Given the description of an element on the screen output the (x, y) to click on. 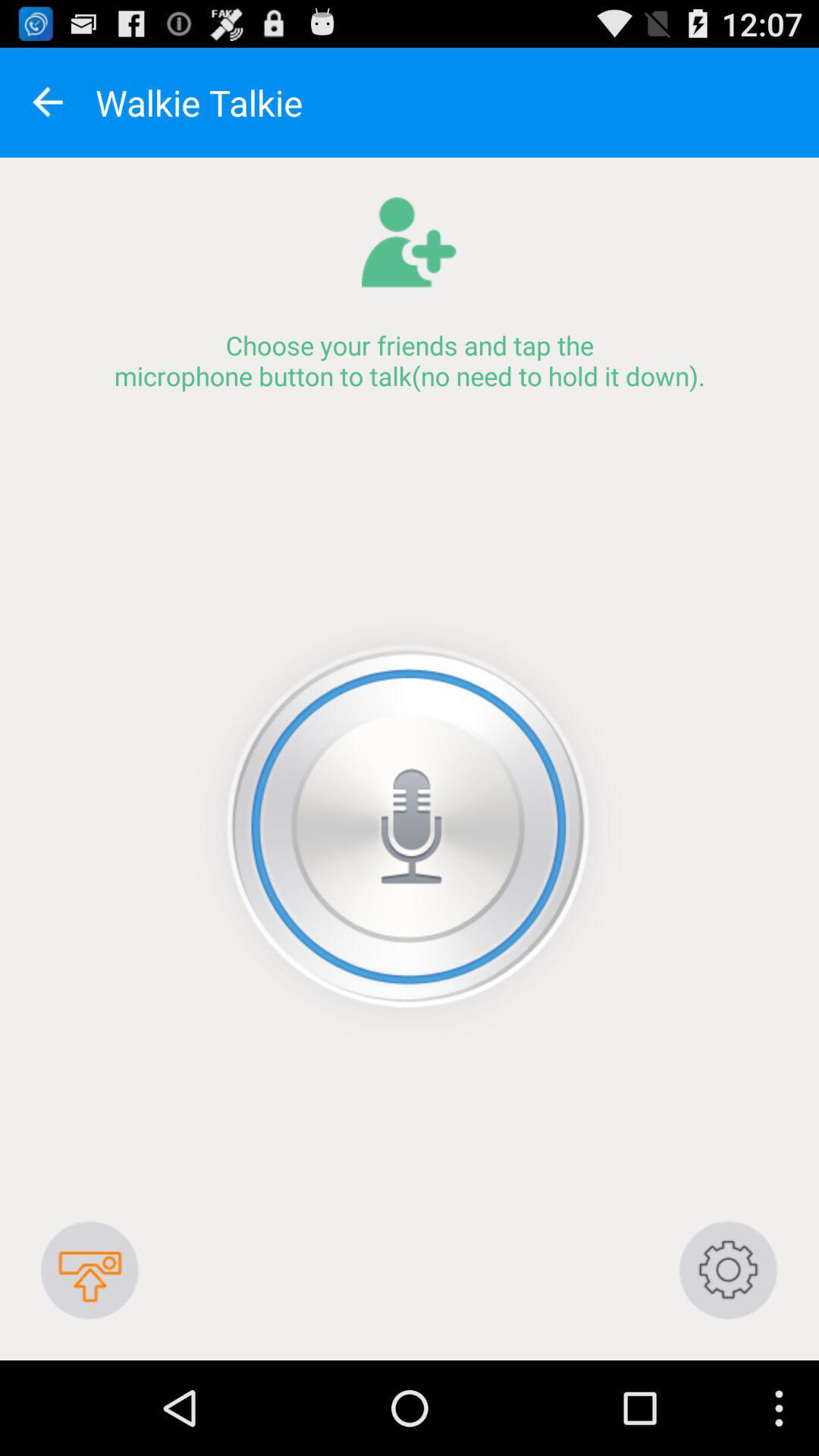
like (408, 826)
